Given the description of an element on the screen output the (x, y) to click on. 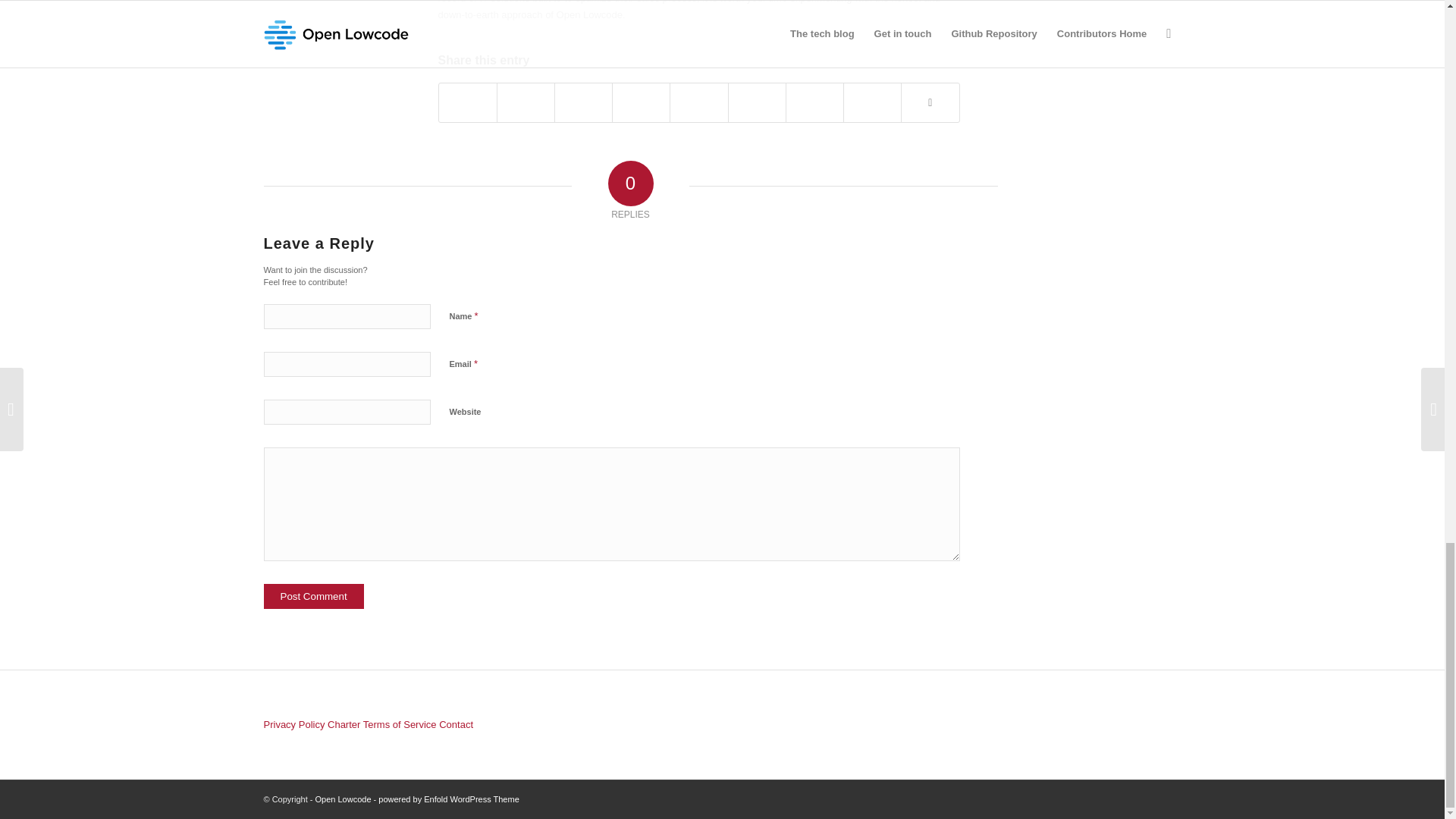
powered by Enfold WordPress Theme (448, 798)
Contact (456, 724)
Terms of Service (399, 724)
Privacy Policy Charter (312, 724)
Post Comment (313, 596)
Post Comment (313, 596)
Open Lowcode (343, 798)
